Given the description of an element on the screen output the (x, y) to click on. 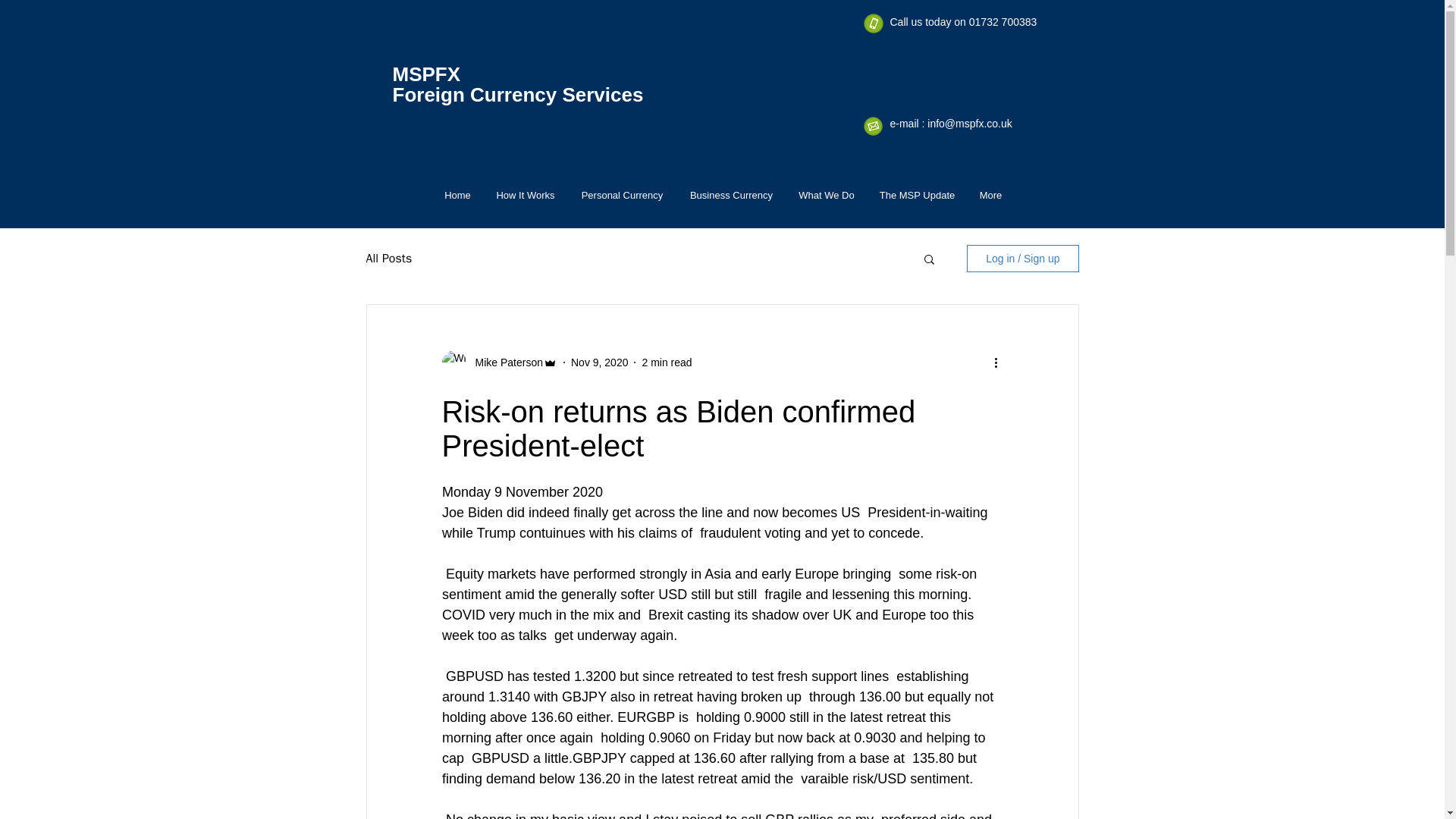
What We Do (826, 195)
Mike Paterson (503, 362)
All Posts (388, 258)
How It Works (525, 195)
The MSP Update (917, 195)
Home (457, 195)
Nov 9, 2020 (599, 362)
Personal Currency (622, 195)
2 min read (666, 362)
Business Currency (731, 195)
